Given the description of an element on the screen output the (x, y) to click on. 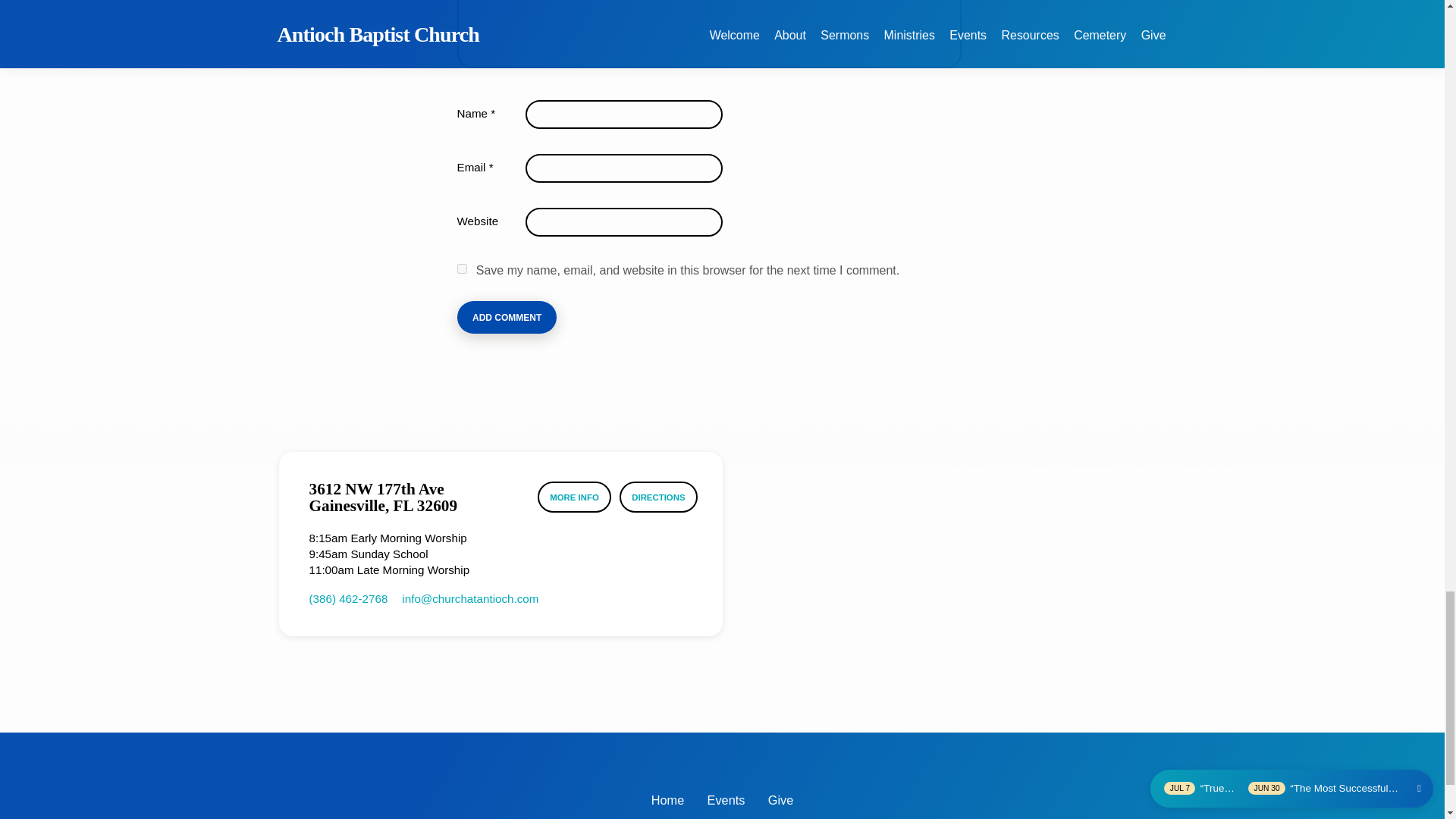
MORE INFO (574, 496)
Events (726, 800)
yes (461, 268)
DIRECTIONS (658, 496)
Give (780, 800)
Add Comment (506, 317)
Home (667, 800)
Add Comment (506, 317)
